Given the description of an element on the screen output the (x, y) to click on. 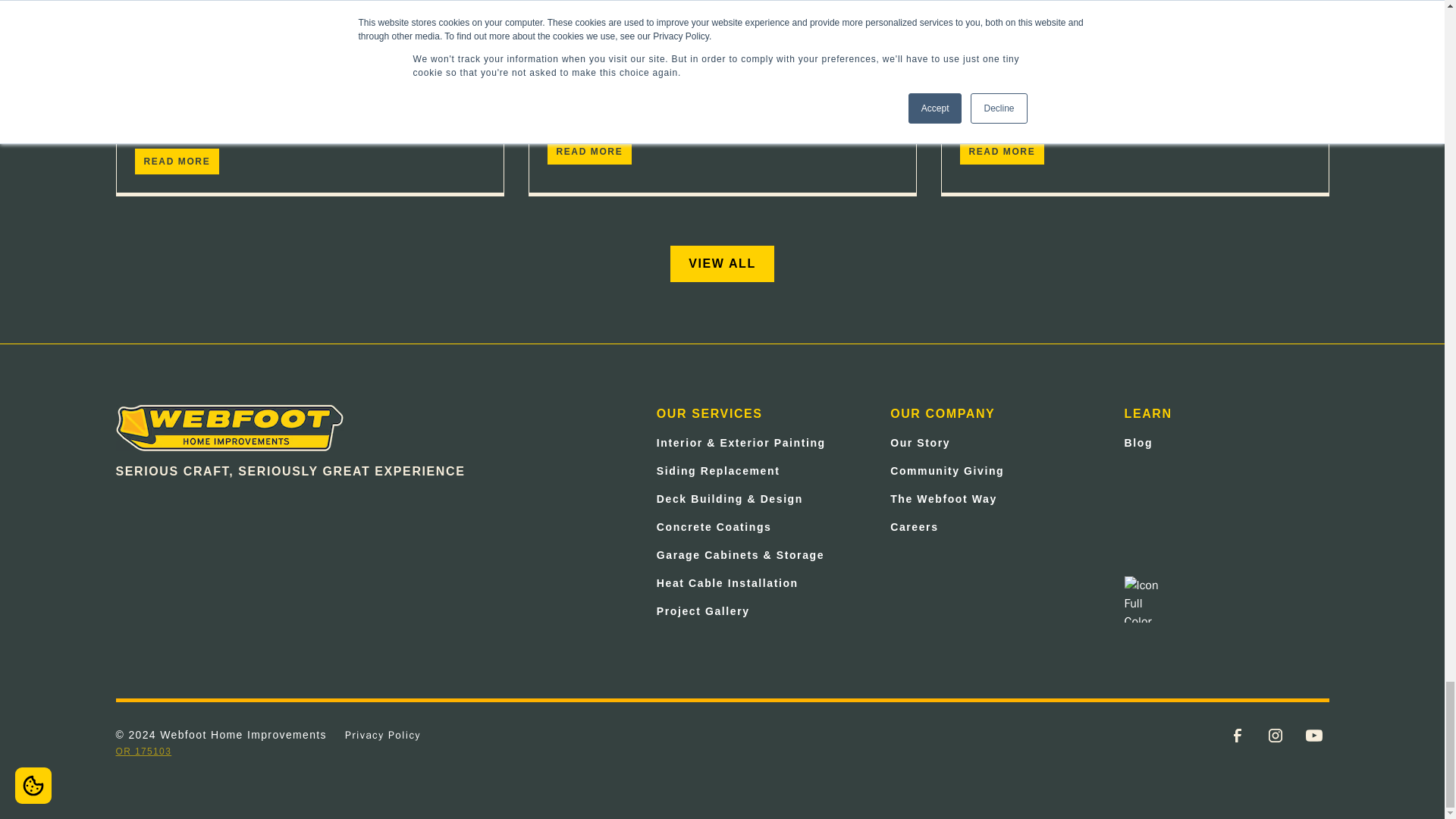
READ MORE (177, 161)
WHAT HAPPENS TO YOUR SIDING DURING WINTER (722, 42)
READ MORE (589, 151)
WAS YOUR DECK BUILT POORLY? 3 BIG WARNING SIGNS (1134, 42)
